Given the description of an element on the screen output the (x, y) to click on. 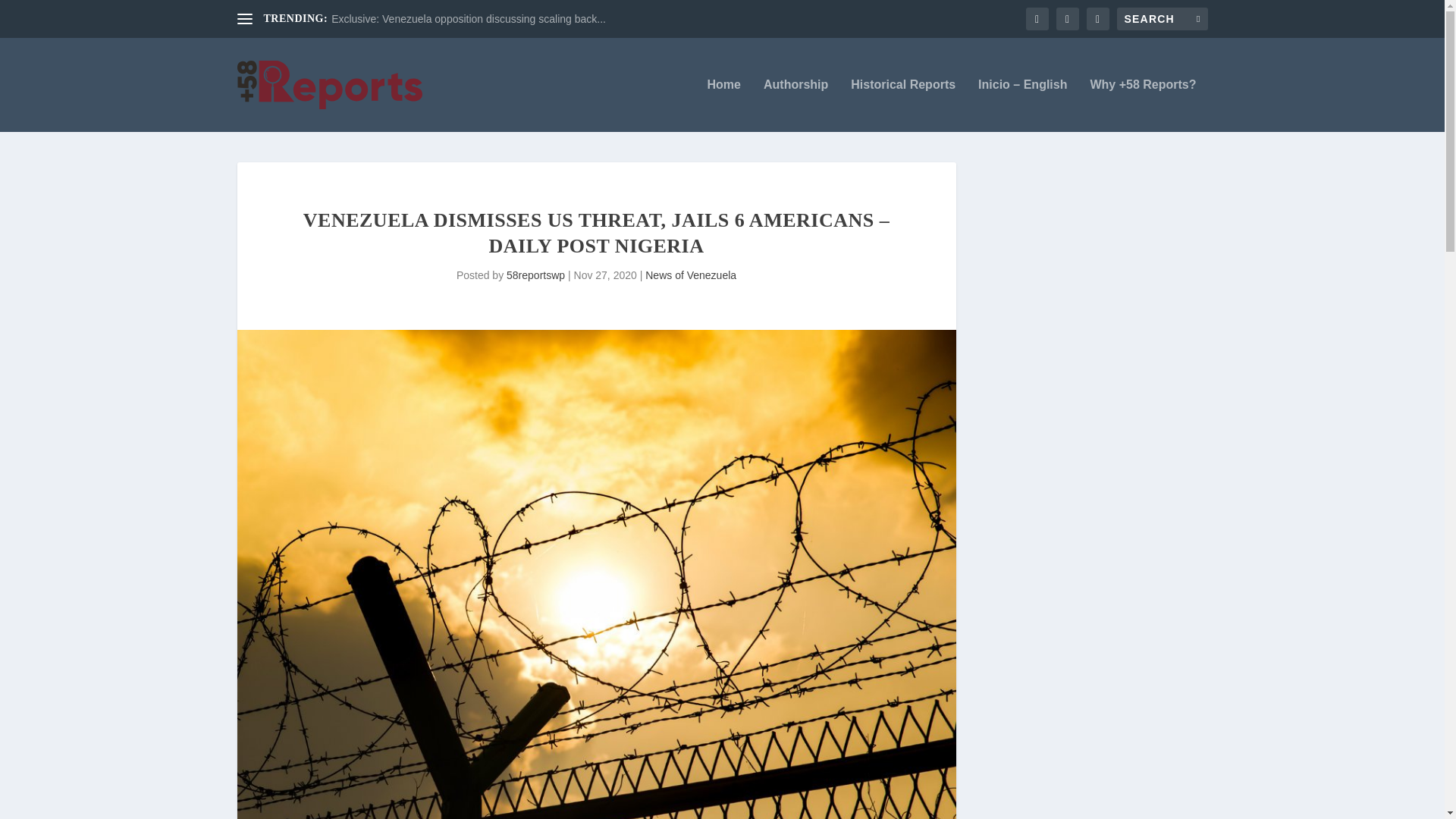
Historical Reports (902, 104)
58reportswp (535, 275)
News of Venezuela (690, 275)
Search for: (1161, 18)
Authorship (795, 104)
Posts by 58reportswp (535, 275)
Exclusive: Venezuela opposition discussing scaling back... (468, 19)
